Given the description of an element on the screen output the (x, y) to click on. 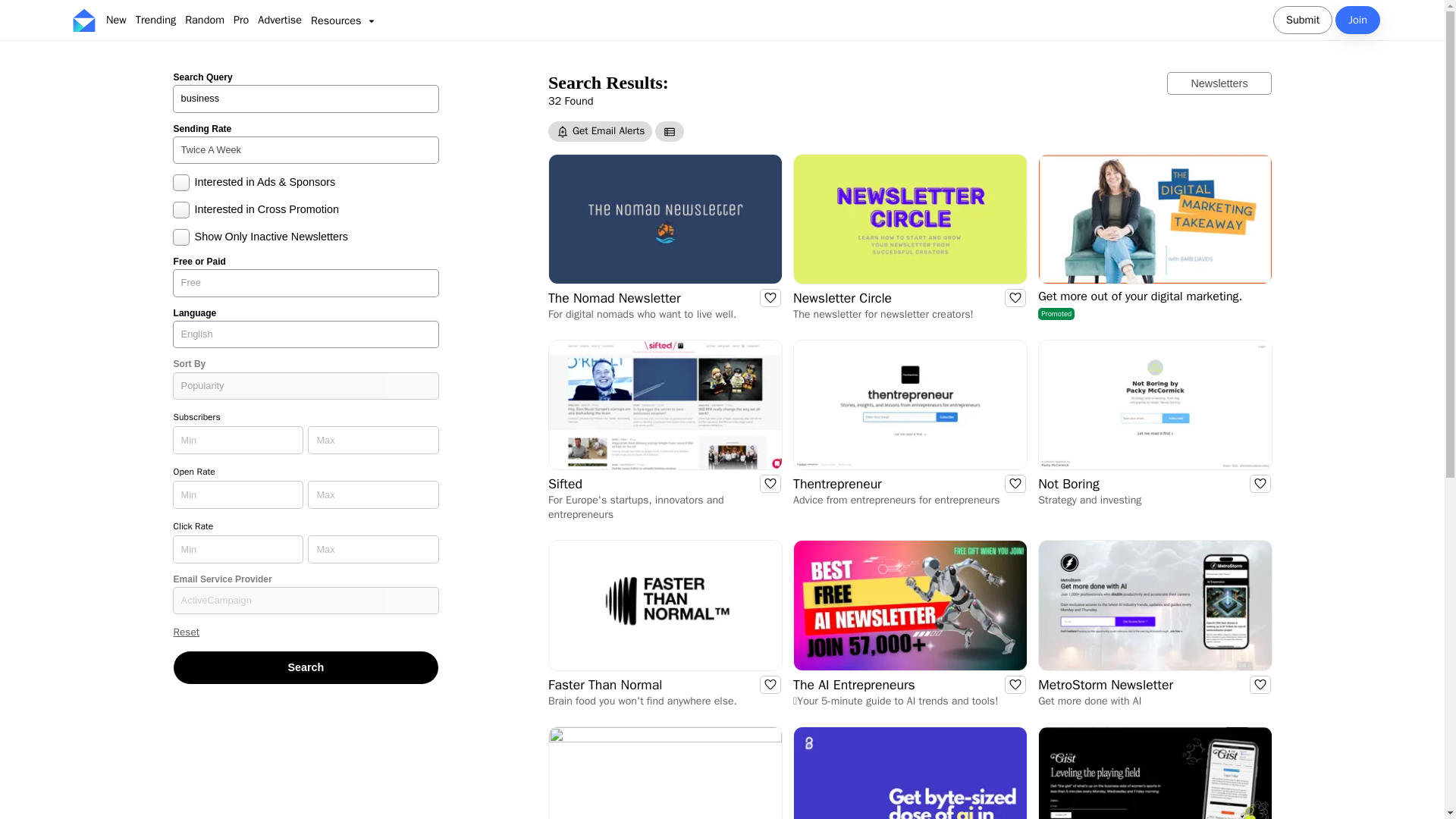
Advertise (279, 19)
Not Boring (1068, 484)
Sifted (565, 484)
Newsletter Circle (1154, 237)
Search (842, 298)
Thentrepreneur (306, 667)
Submit (837, 484)
business (1302, 19)
Join (306, 98)
The Nomad Newsletter (1357, 19)
Trending (614, 298)
New (155, 19)
business (116, 19)
Random (306, 98)
